Given the description of an element on the screen output the (x, y) to click on. 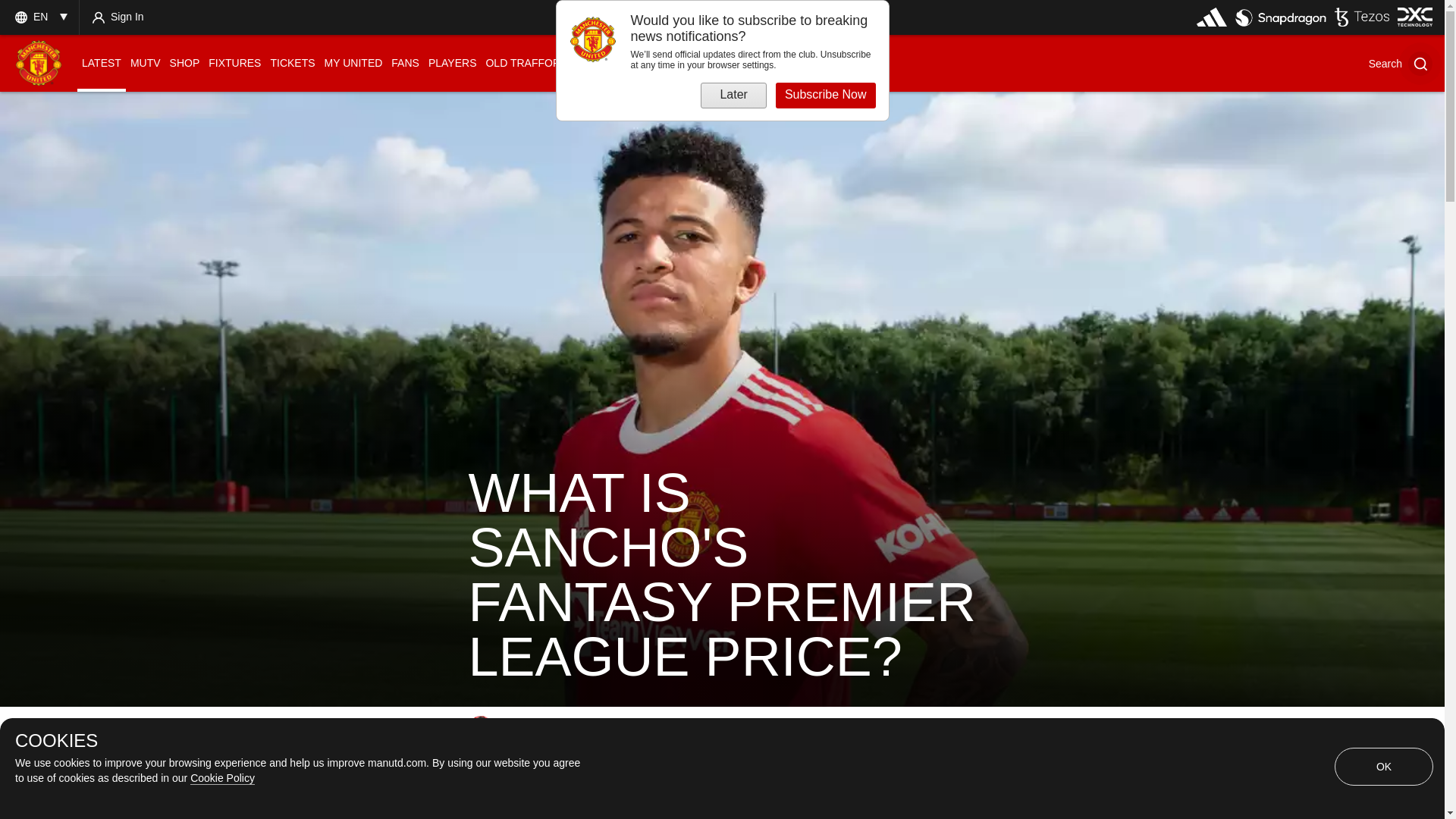
ManUtd.com reporter Adam Marshall at Old Trafford. (480, 727)
Later (732, 95)
Cookie Policy (222, 778)
OK (1383, 766)
Subscribe Now (826, 95)
